Given the description of an element on the screen output the (x, y) to click on. 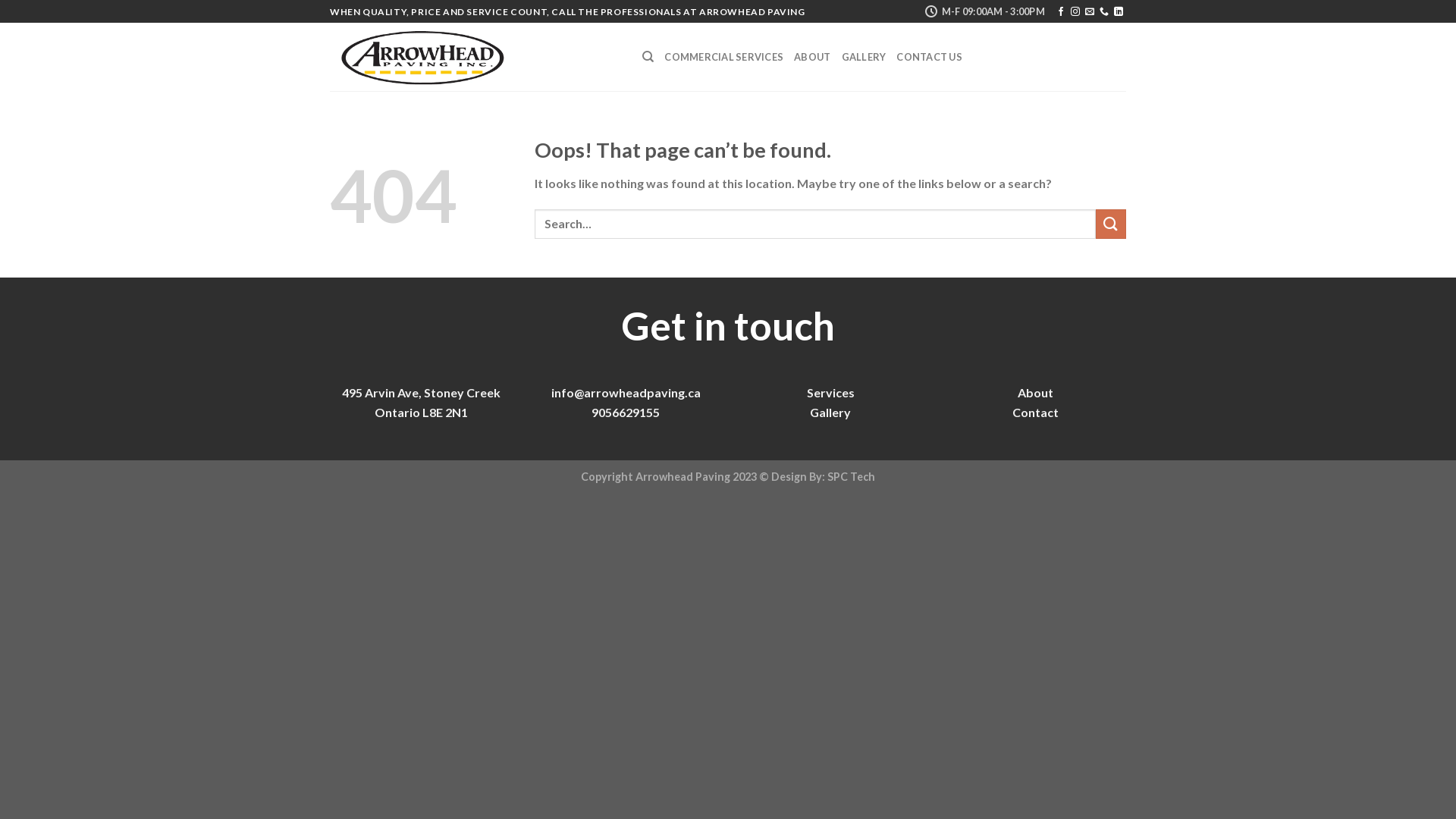
Gallery Element type: text (829, 411)
Send us an email Element type: hover (1089, 11)
About Element type: text (1035, 392)
COMMERCIAL SERVICES Element type: text (723, 56)
CONTACT US Element type: text (929, 56)
Services Element type: text (830, 392)
M-F 09:00AM - 3:00PM Element type: text (984, 11)
Call us Element type: hover (1103, 11)
GALLERY Element type: text (863, 56)
Contact Element type: text (1034, 411)
Follow on Facebook Element type: hover (1060, 11)
ABOUT Element type: text (811, 56)
Arrowhead Paving - Arrowhead Paving Element type: hover (474, 56)
Follow on LinkedIn Element type: hover (1118, 11)
Follow on Instagram Element type: hover (1074, 11)
9056629155 Element type: text (625, 411)
info@arrowheadpaving.ca Element type: text (624, 392)
